Given the description of an element on the screen output the (x, y) to click on. 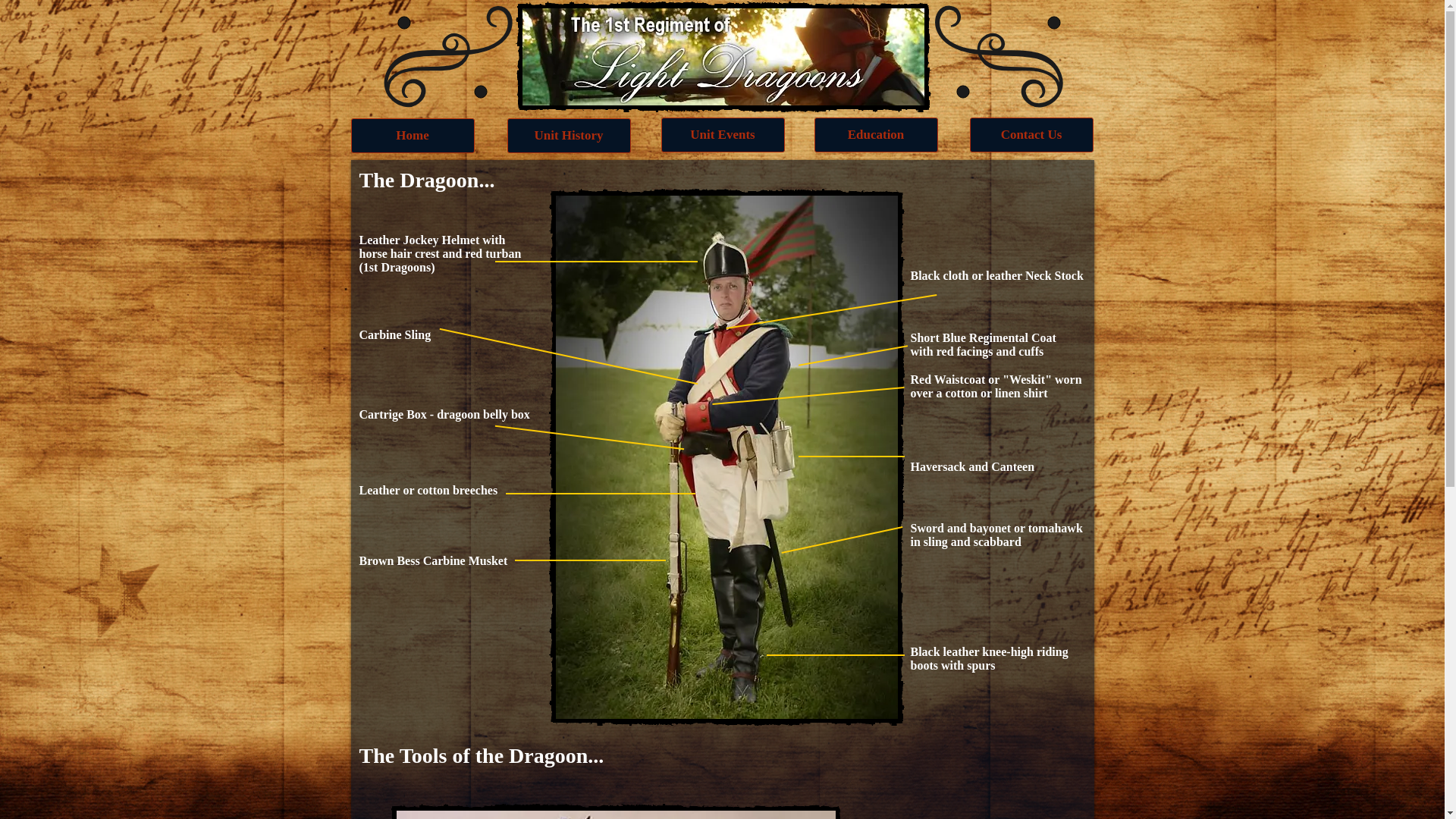
Contact Us Element type: text (1030, 134)
Education Element type: text (876, 134)
Unit Events Element type: text (722, 134)
Home Element type: text (411, 135)
Unit History Element type: text (568, 135)
